Given the description of an element on the screen output the (x, y) to click on. 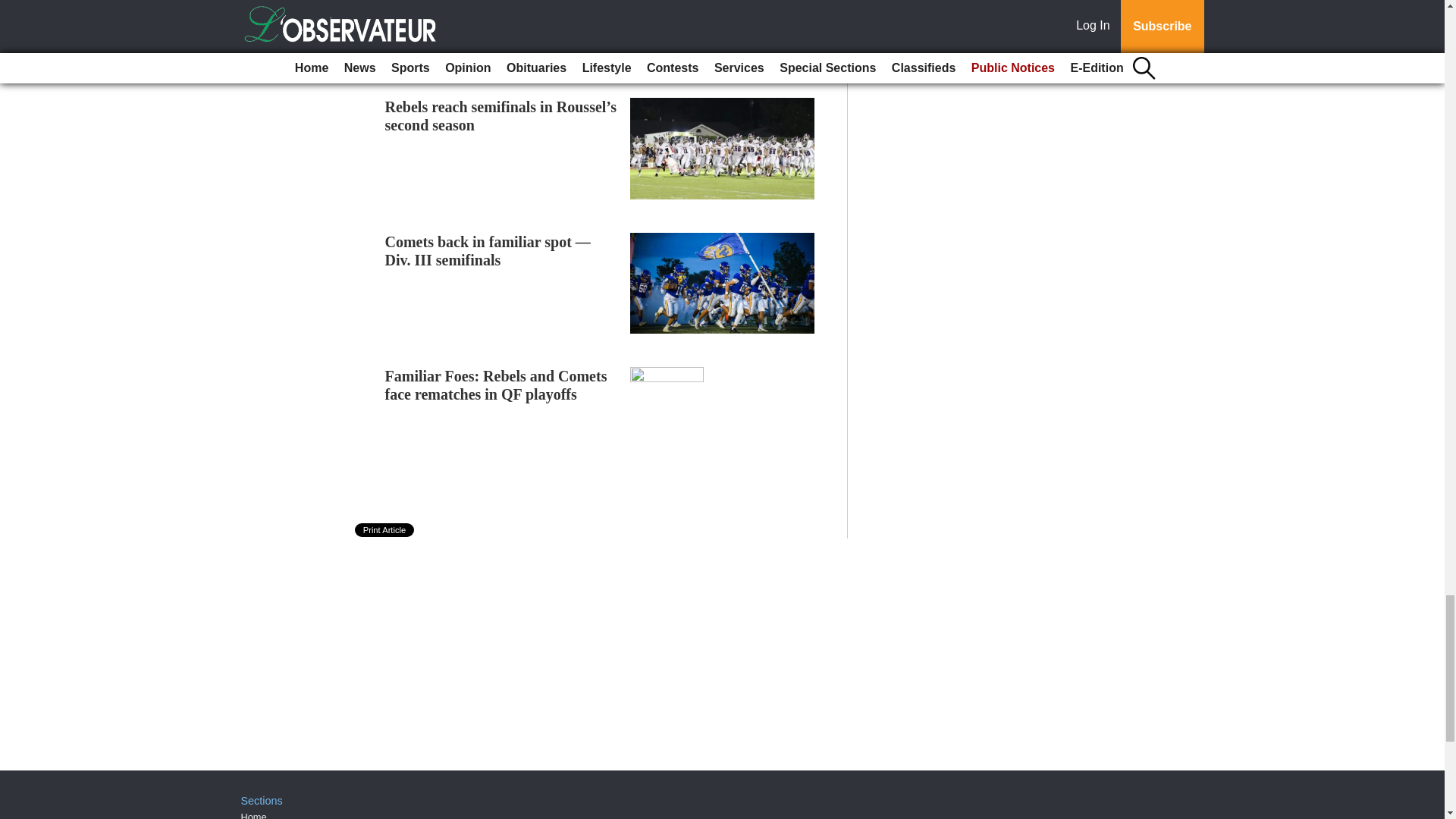
Print Article (384, 530)
